Given the description of an element on the screen output the (x, y) to click on. 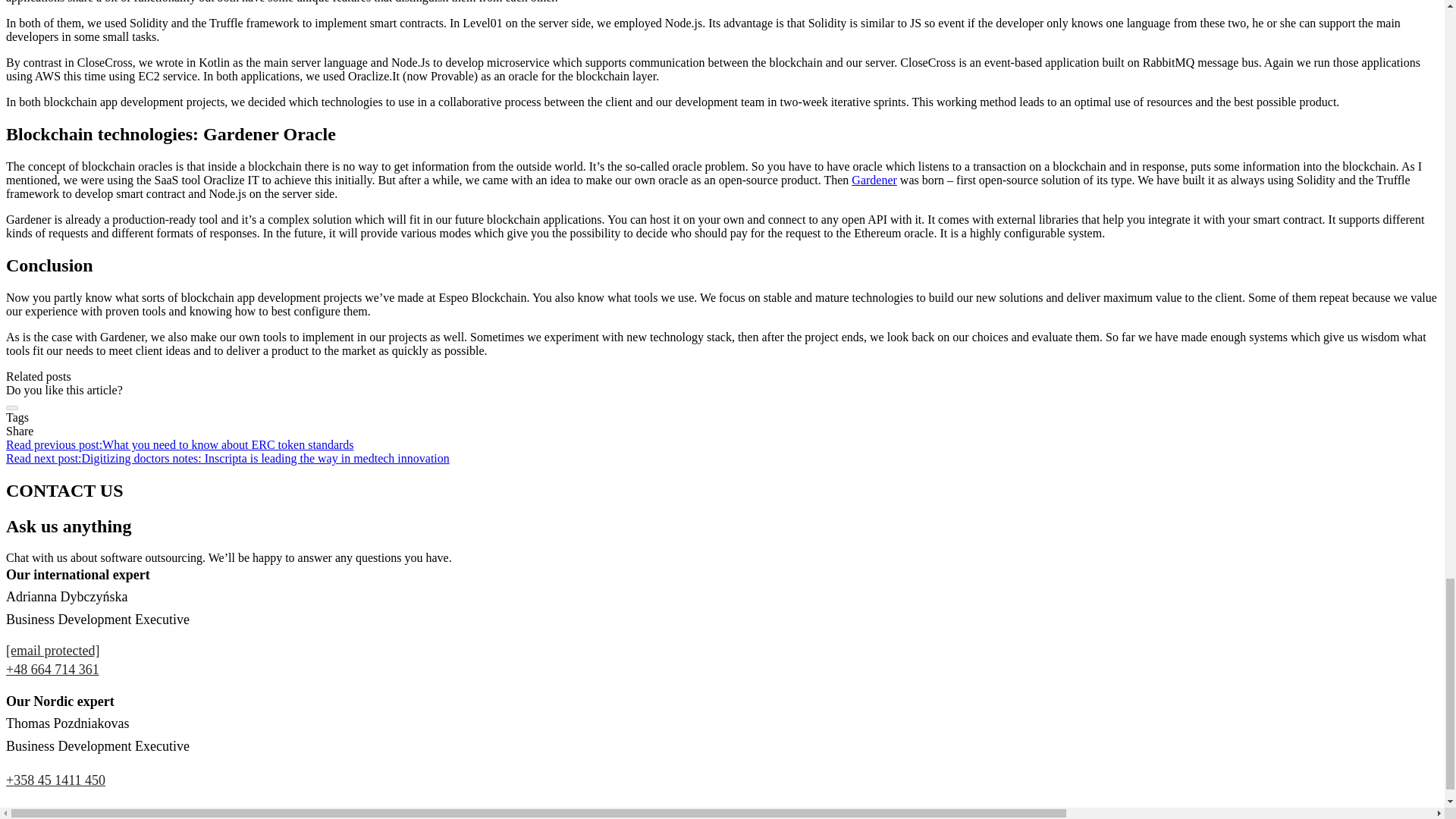
Gardener (873, 179)
